Given the description of an element on the screen output the (x, y) to click on. 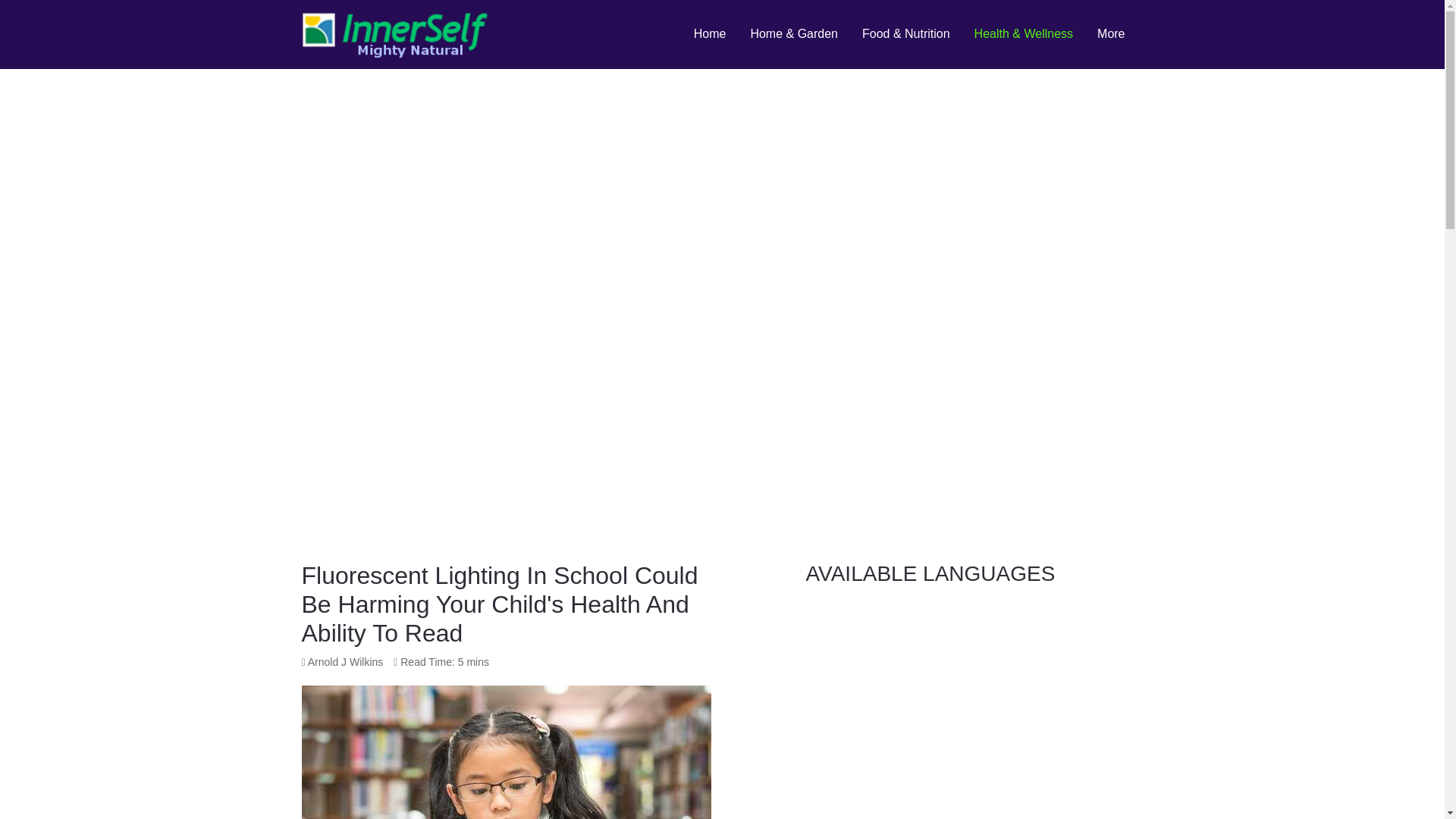
Home (709, 33)
More (1110, 33)
Home (709, 33)
